Given the description of an element on the screen output the (x, y) to click on. 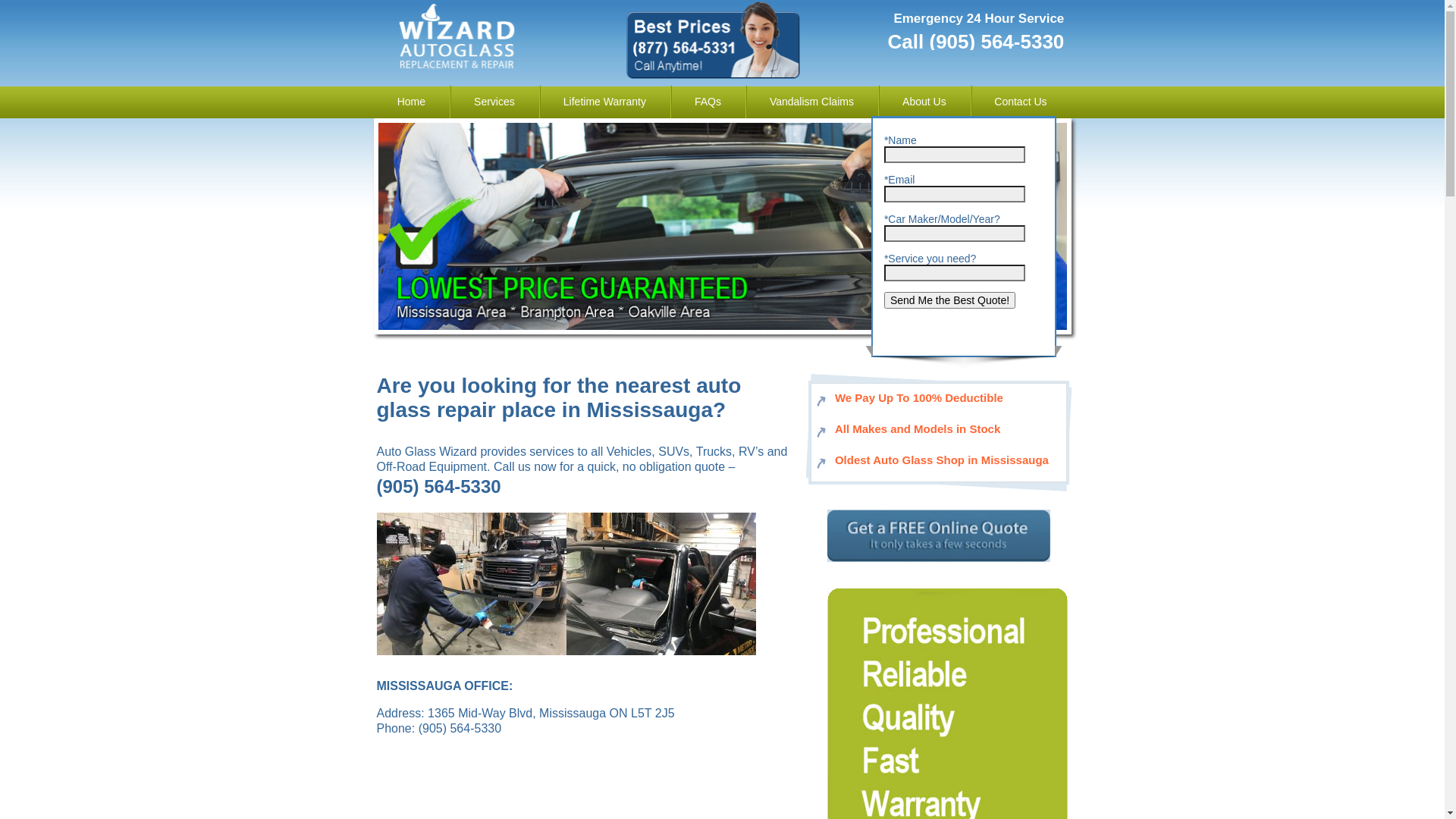
Send Me the Best Quote! Element type: text (949, 299)
Lifetime Warranty Element type: text (604, 101)
(905) 564-5330 Element type: text (438, 488)
Home Element type: text (411, 101)
About Us Element type: text (924, 101)
Services Element type: text (494, 101)
Vandalism Claims Element type: text (811, 101)
FAQs Element type: text (707, 101)
Contact Us Element type: text (1020, 101)
